Given the description of an element on the screen output the (x, y) to click on. 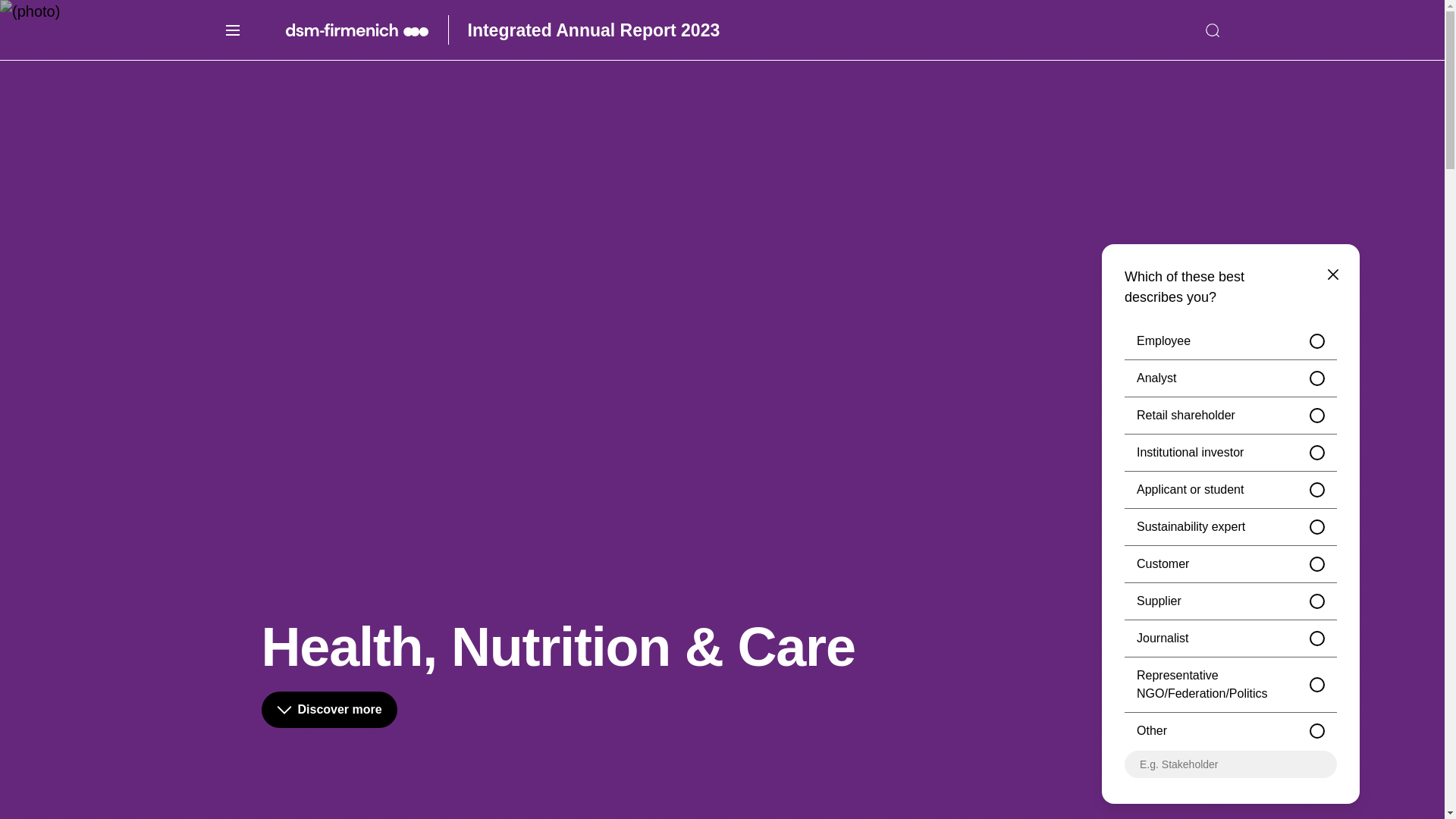
open new window: go to our corporate website (366, 30)
Integrated Annual Report 2023 (593, 29)
Close (1211, 30)
Home (593, 29)
Discover more (328, 709)
